Given the description of an element on the screen output the (x, y) to click on. 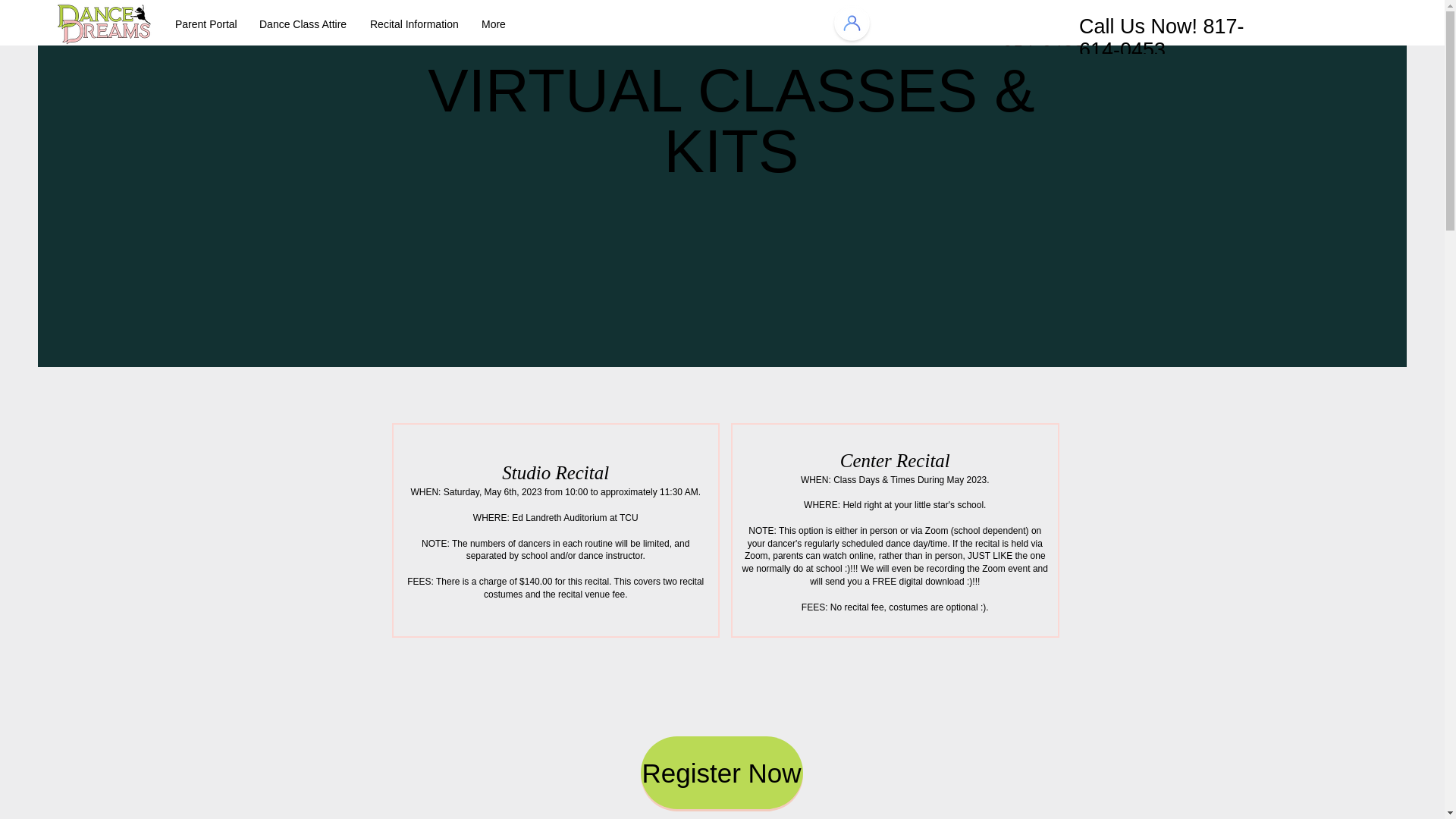
Recital Information (414, 24)
Dance Class Attire (302, 24)
Register Now (721, 772)
Parent Portal (205, 24)
